Given the description of an element on the screen output the (x, y) to click on. 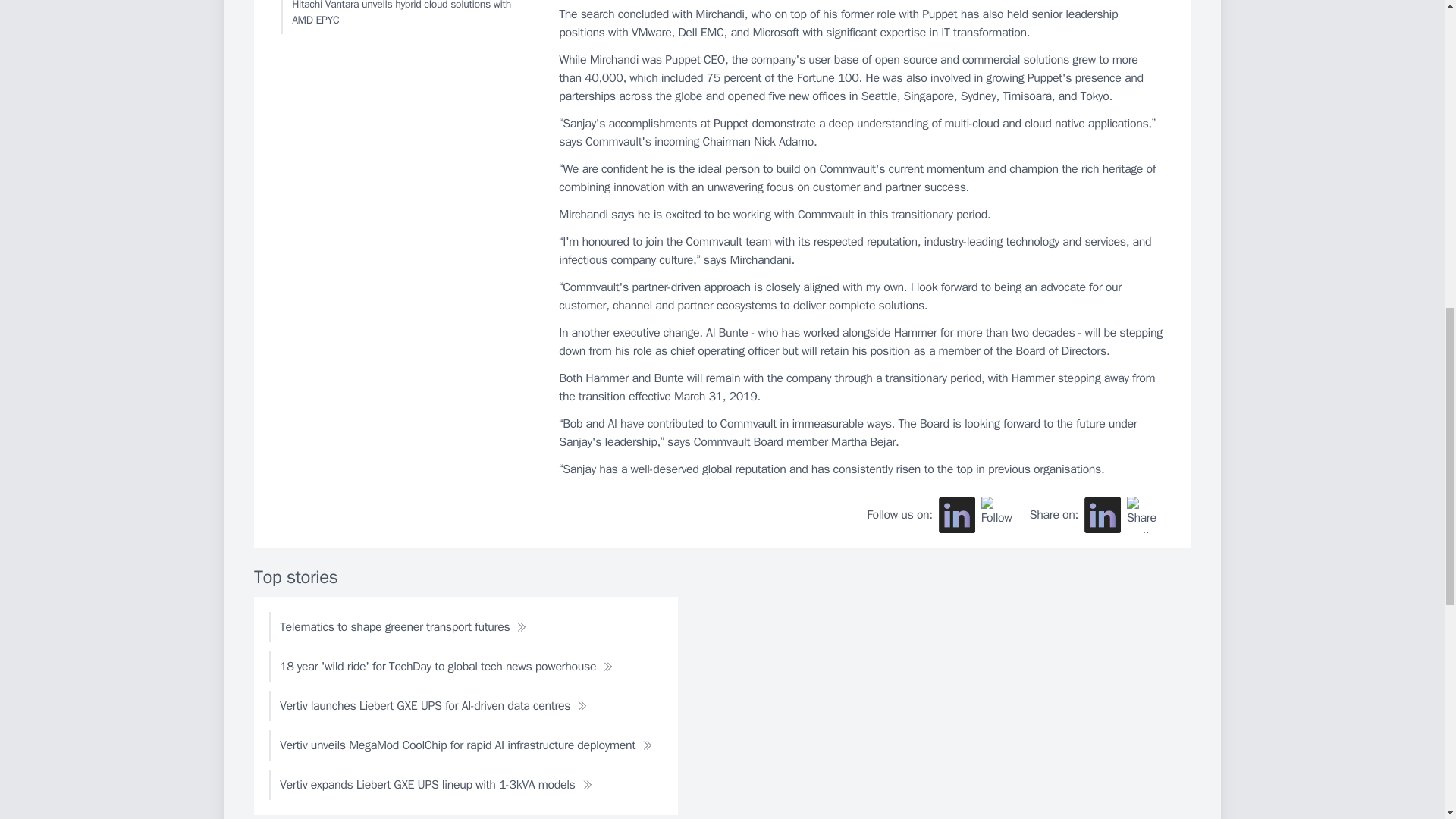
Vertiv expands Liebert GXE UPS lineup with 1-3kVA models (435, 784)
Telematics to shape greener transport futures (403, 626)
Hitachi Vantara unveils hybrid cloud solutions with AMD EPYC (406, 17)
Vertiv launches Liebert GXE UPS for AI-driven data centres (432, 706)
